Given the description of an element on the screen output the (x, y) to click on. 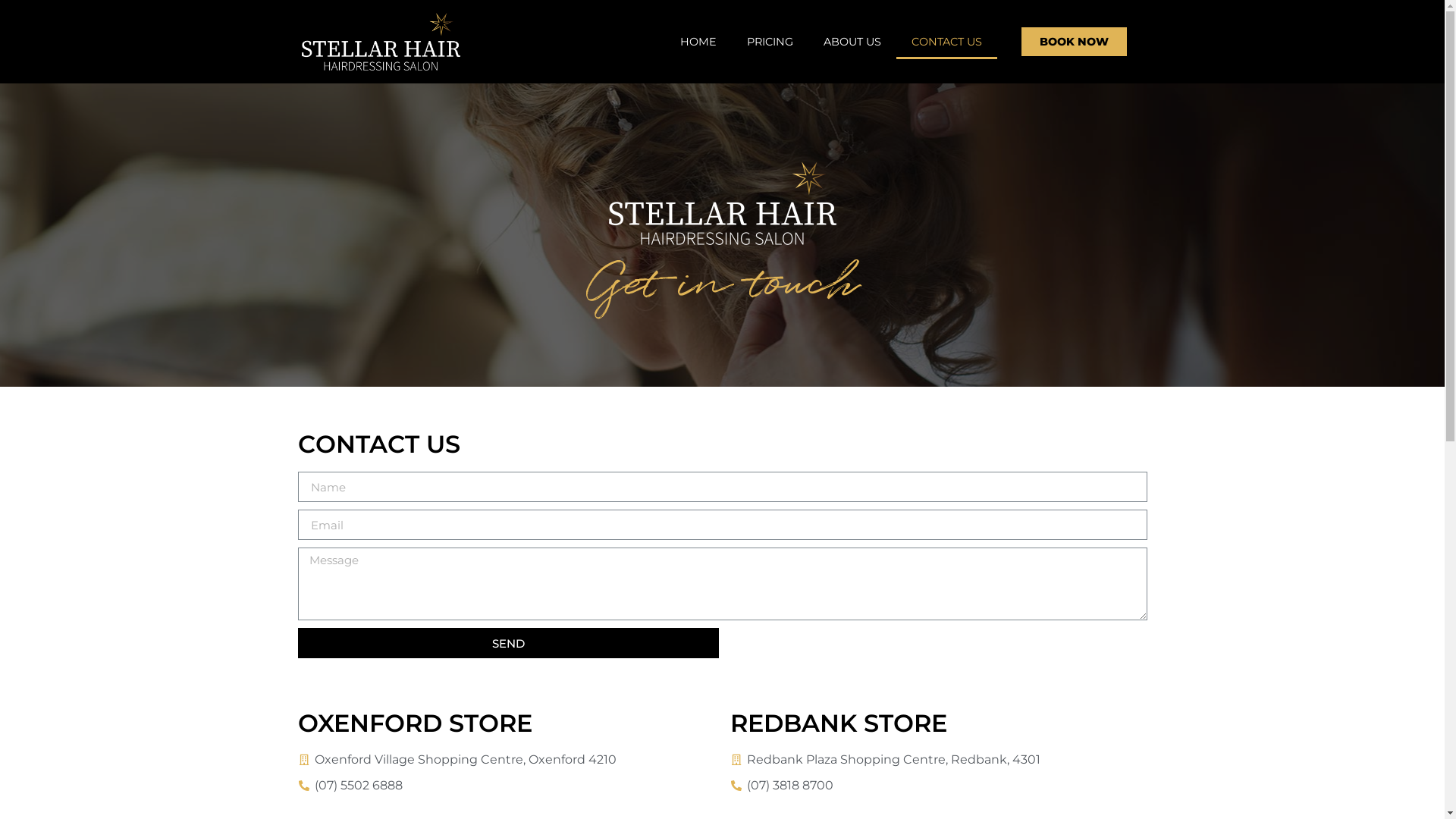
HOME Element type: text (698, 41)
PRICING Element type: text (769, 41)
ABOUT US Element type: text (852, 41)
BOOK NOW Element type: text (1073, 41)
SEND Element type: text (507, 642)
(07) 3818 8700 Element type: text (937, 785)
CONTACT US Element type: text (946, 41)
(07) 5502 6888 Element type: text (505, 785)
